Given the description of an element on the screen output the (x, y) to click on. 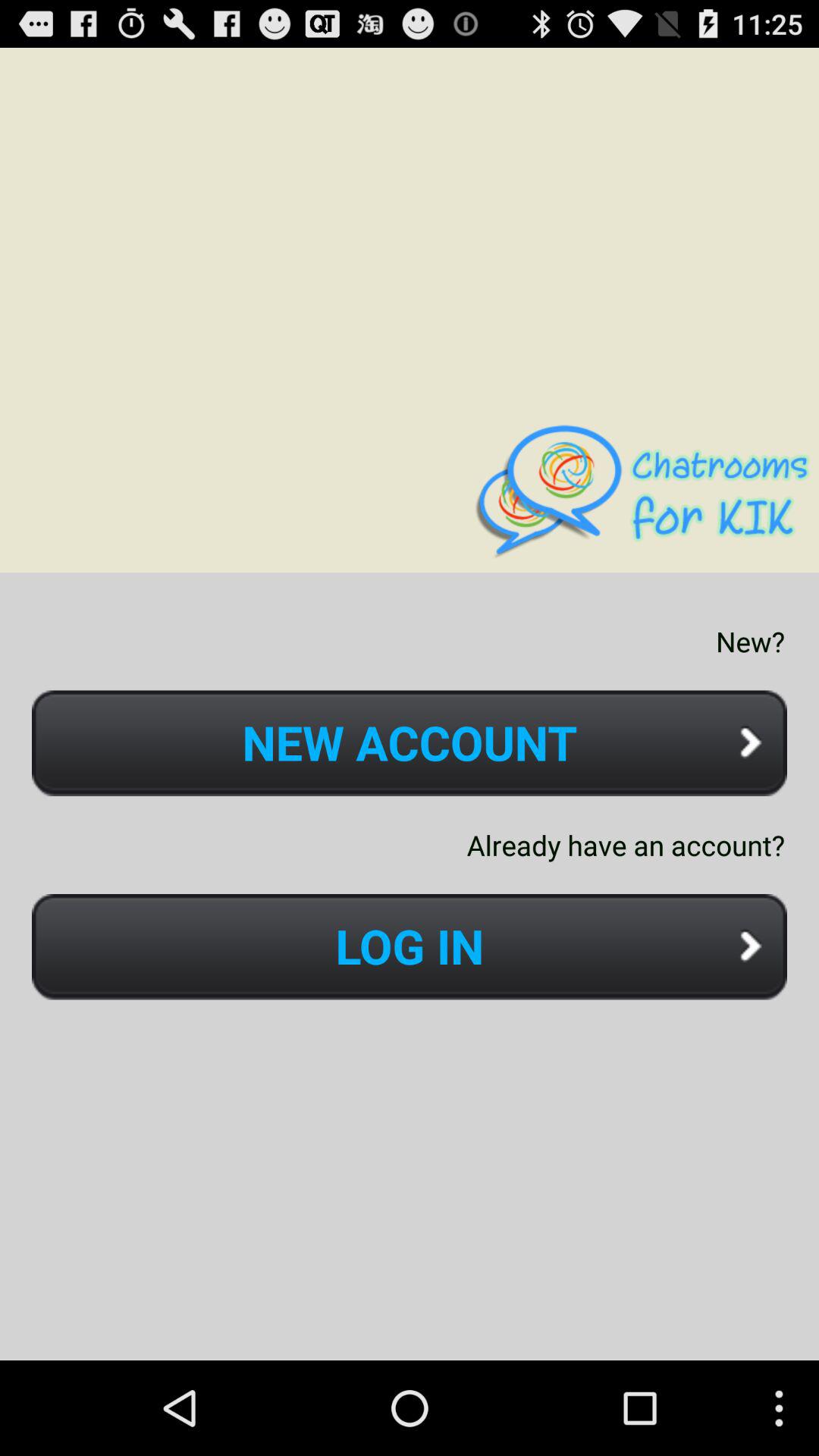
tap icon below the new? app (409, 743)
